Given the description of an element on the screen output the (x, y) to click on. 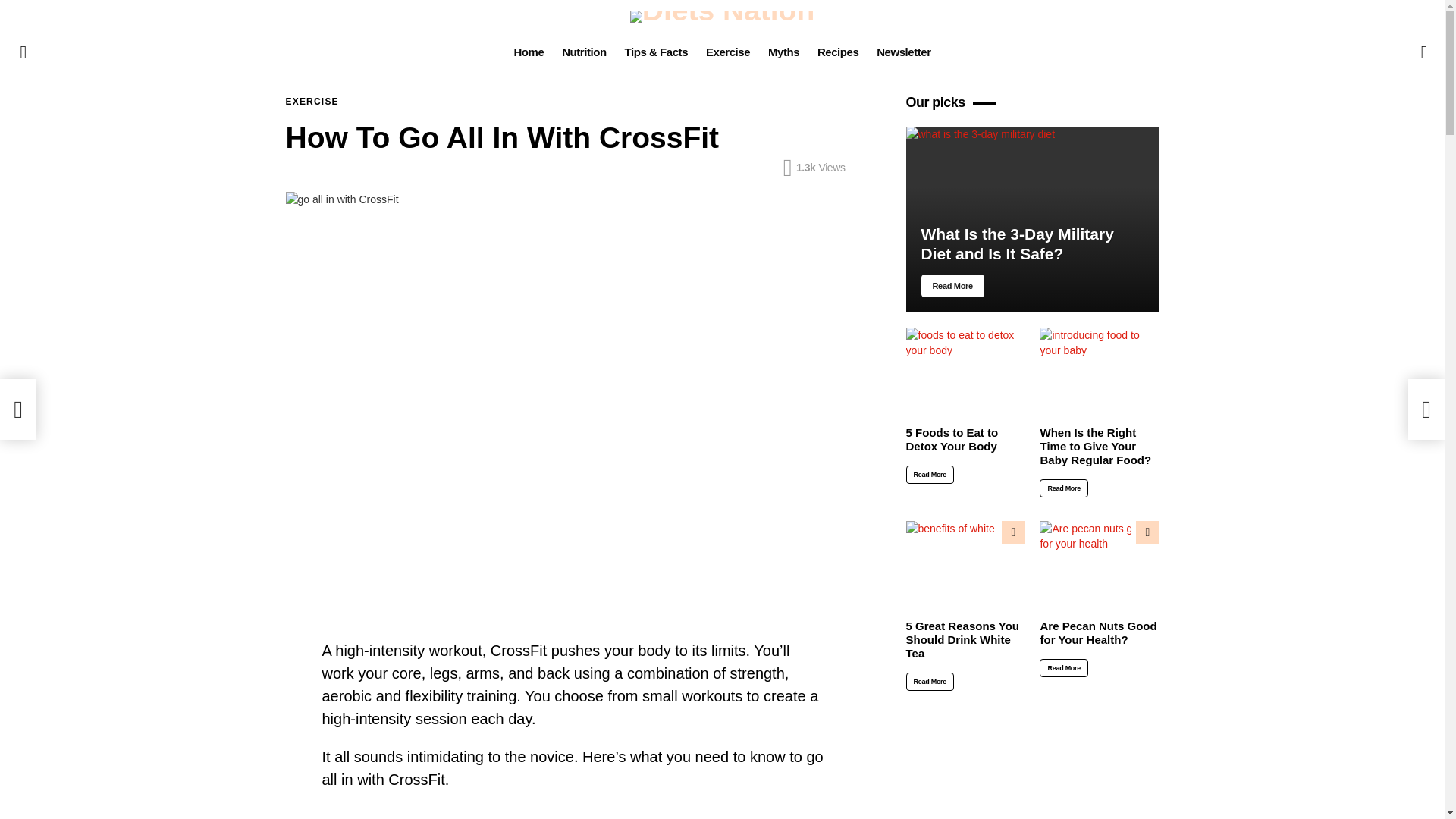
Recipes (837, 51)
EXERCISE (311, 101)
Nutrition (583, 51)
Menu (22, 52)
Exercise (727, 51)
Home (528, 51)
Myths (783, 51)
Newsletter (903, 51)
